Given the description of an element on the screen output the (x, y) to click on. 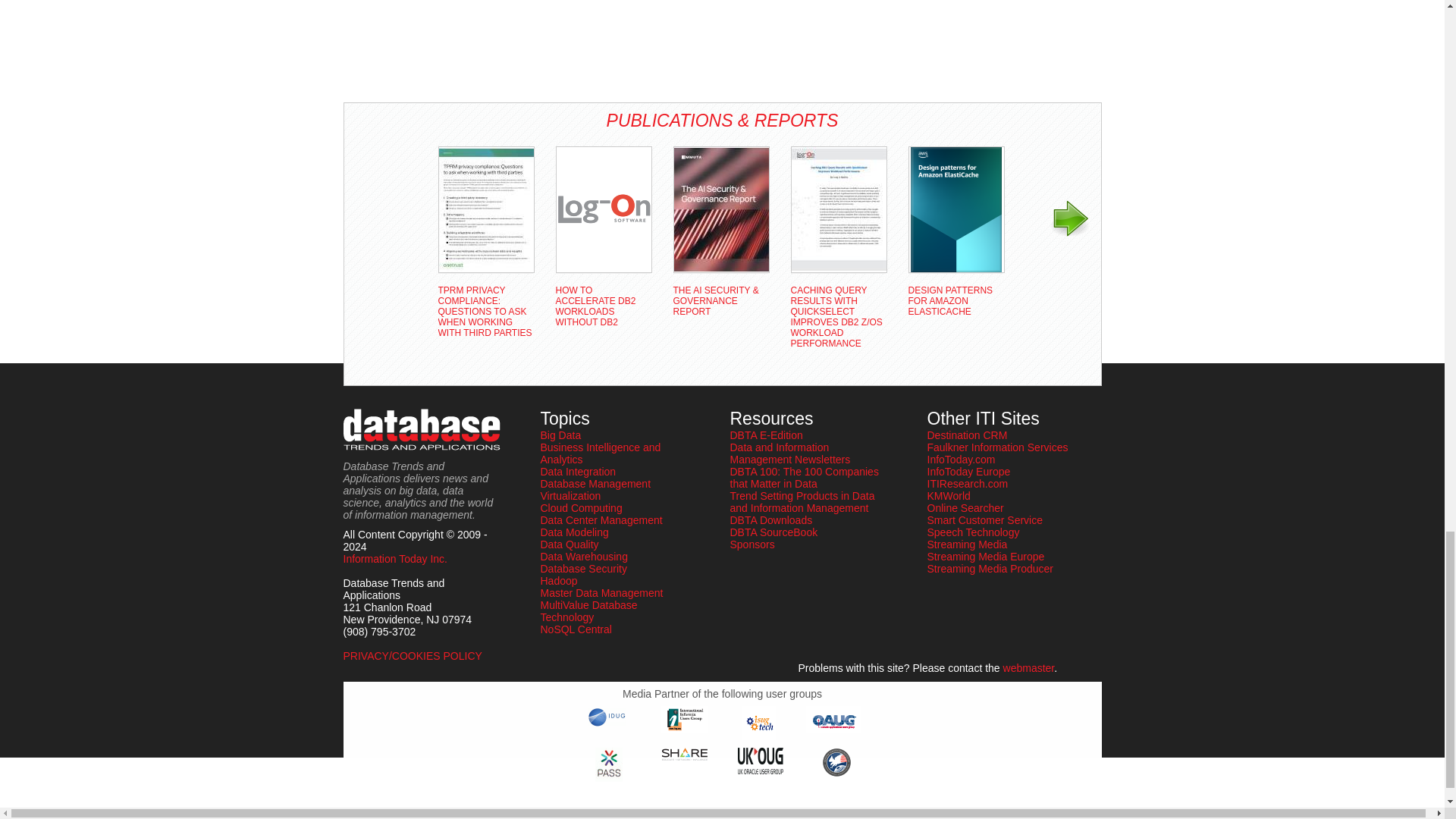
3rd party ad content (403, 46)
